Given the description of an element on the screen output the (x, y) to click on. 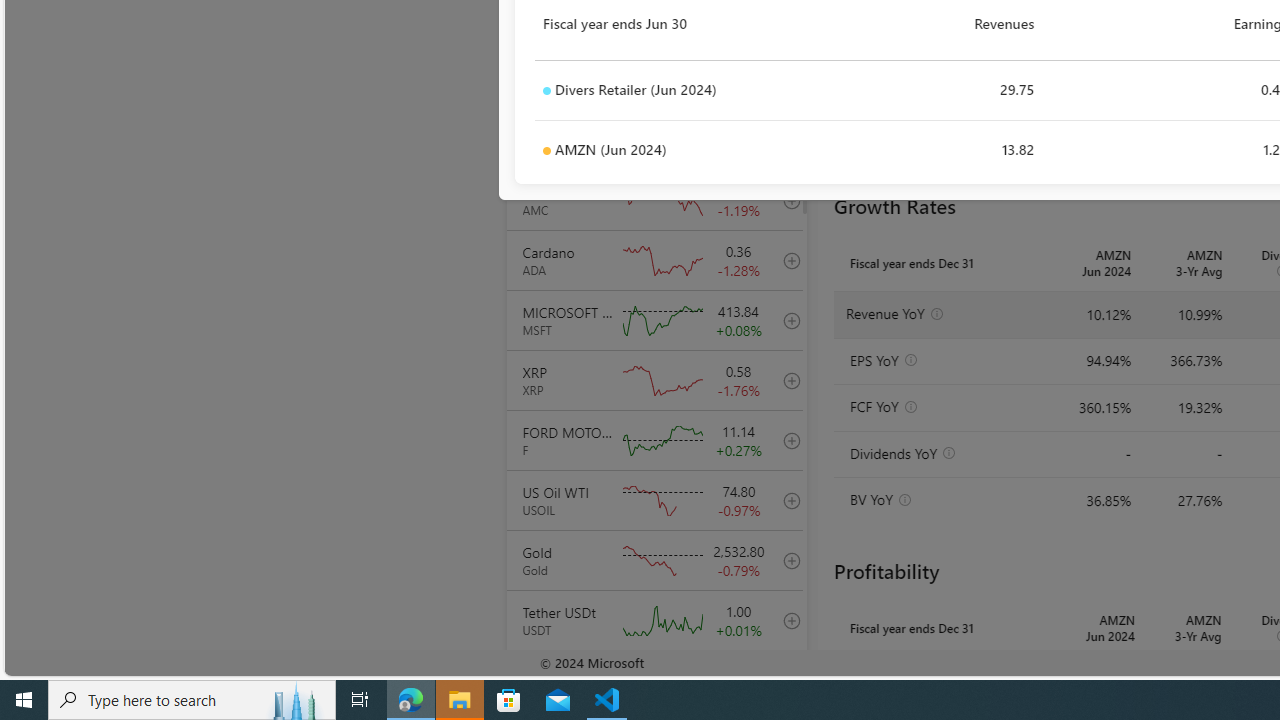
Class: symbolDot-DS-EntryPoint1-2 (546, 151)
add to your watchlist (786, 680)
